Given the description of an element on the screen output the (x, y) to click on. 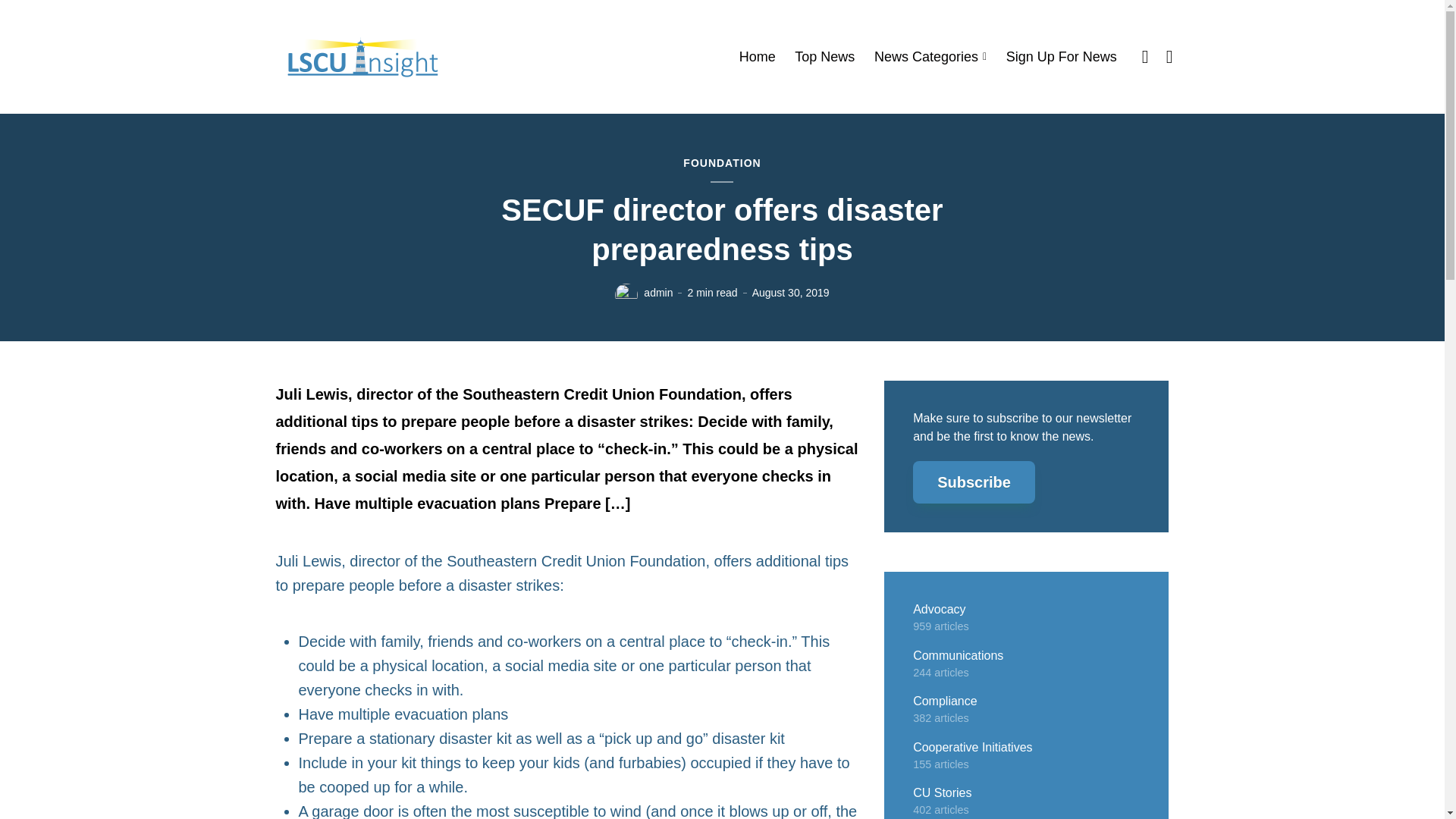
Top News (824, 56)
Sign Up For News (1061, 56)
FOUNDATION (721, 163)
admin (657, 292)
News Categories (931, 56)
Home (757, 56)
